Given the description of an element on the screen output the (x, y) to click on. 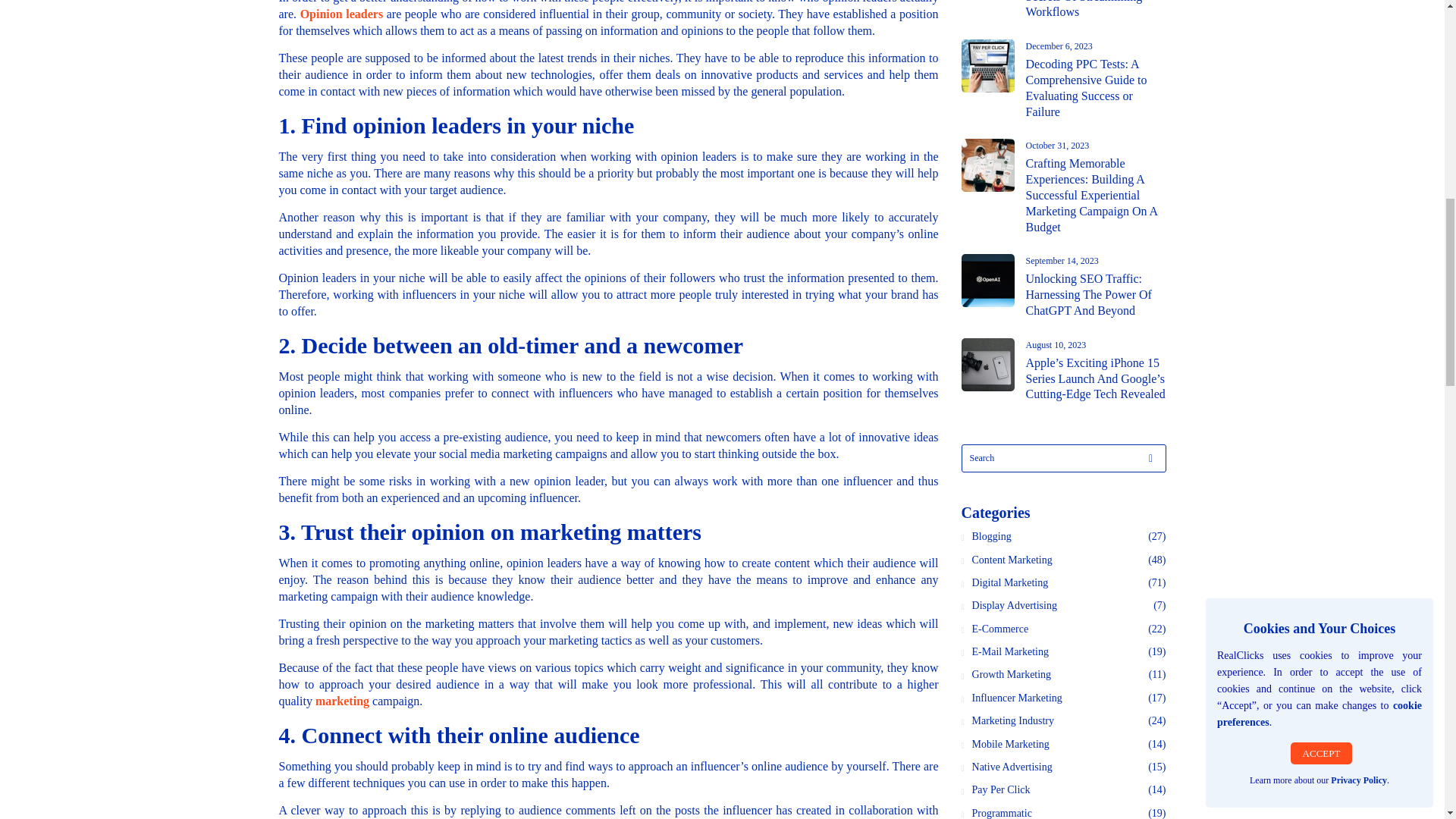
Opinion leaders (341, 13)
marketing (342, 700)
Blogging (993, 536)
